Given the description of an element on the screen output the (x, y) to click on. 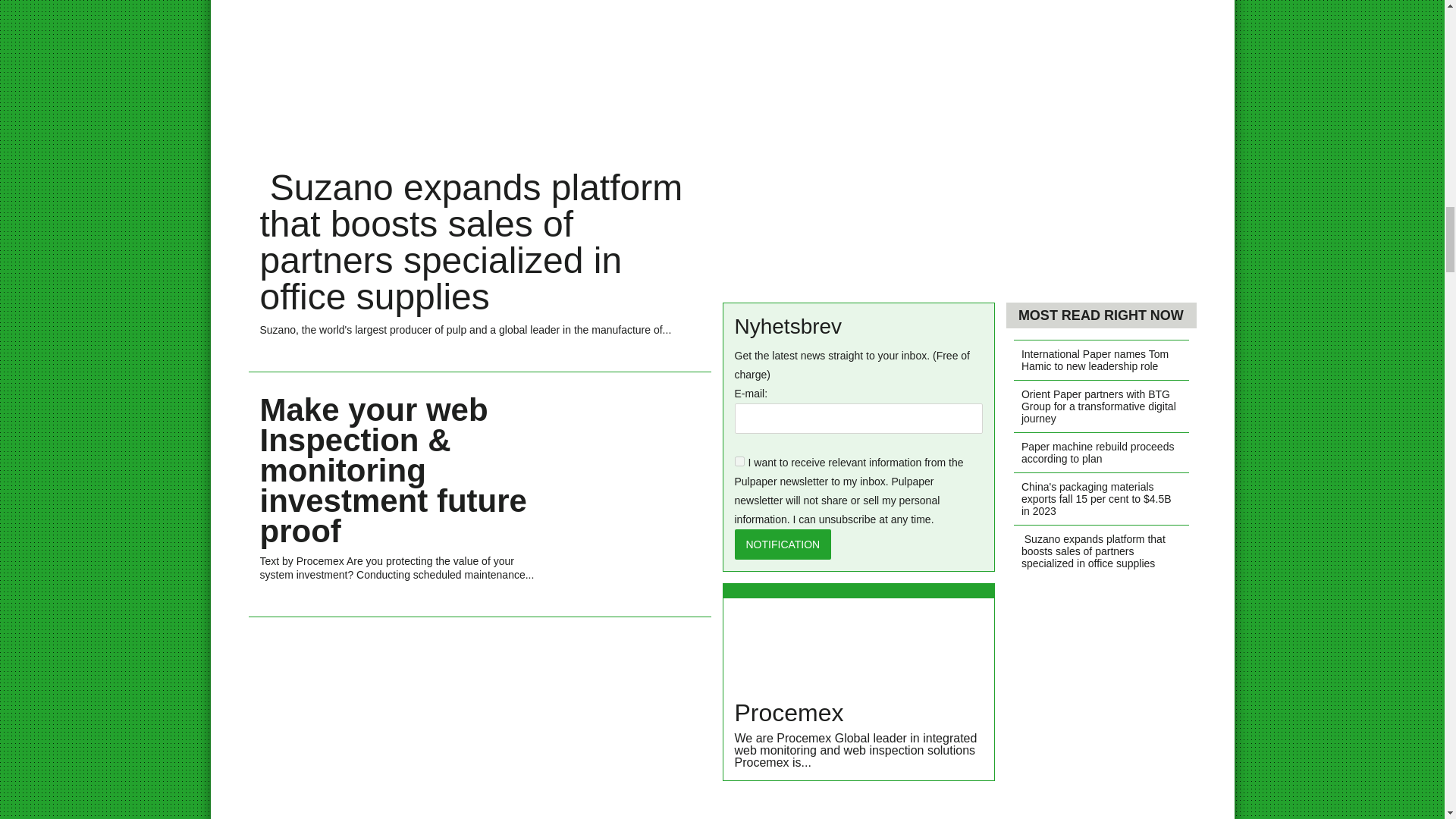
3rd party ad content (958, 140)
3rd party ad content (479, 723)
Notification (782, 544)
3rd party ad content (858, 805)
